Given the description of an element on the screen output the (x, y) to click on. 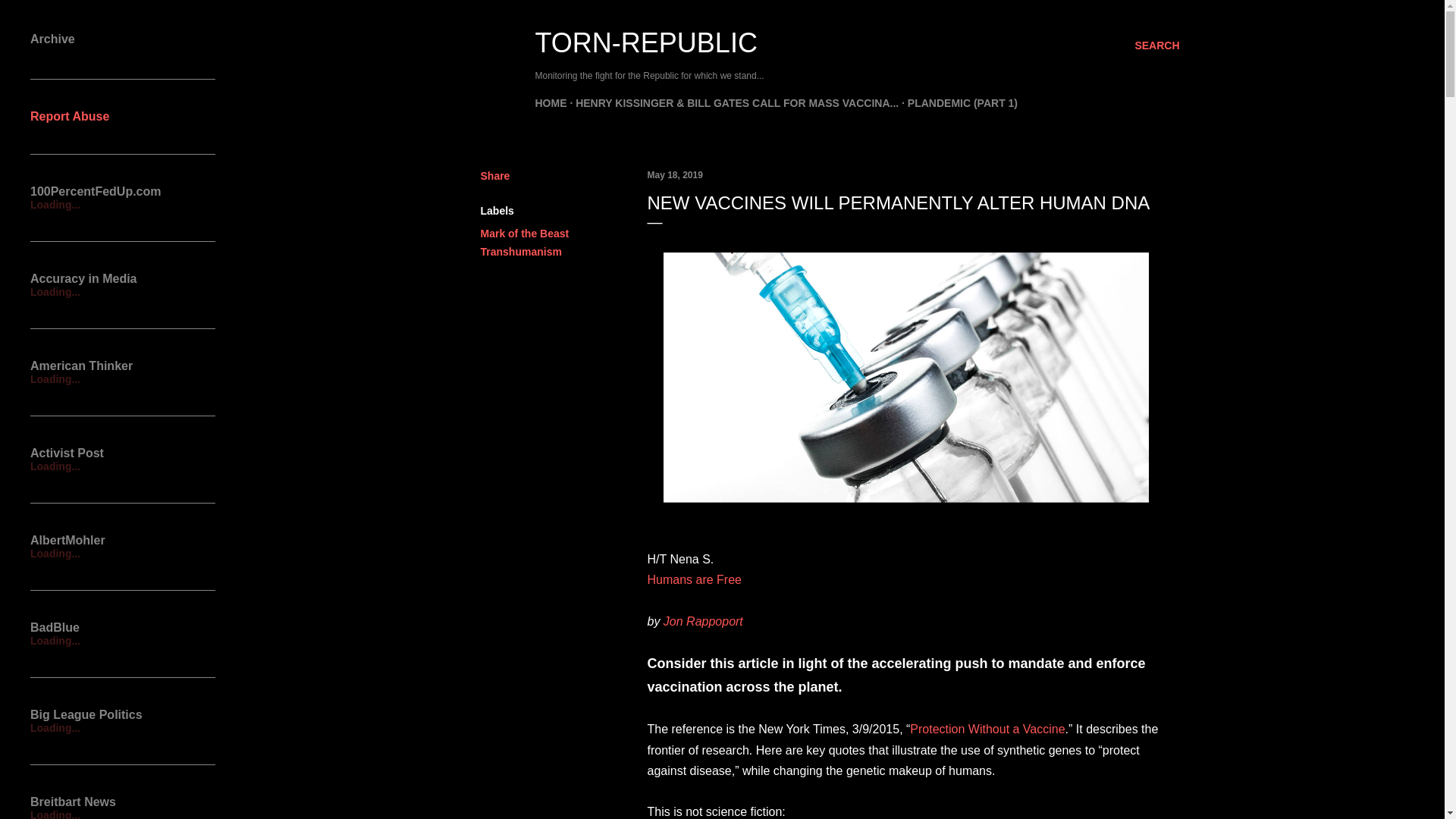
TORN-REPUBLIC (646, 42)
Jon Rappoport (702, 621)
May 18, 2019 (675, 174)
Mark of the Beast (524, 233)
HOME (551, 102)
Humans are Free (694, 579)
permanent link (675, 174)
SEARCH (1156, 45)
Share (495, 175)
Protection Without a Vaccine (987, 728)
